Given the description of an element on the screen output the (x, y) to click on. 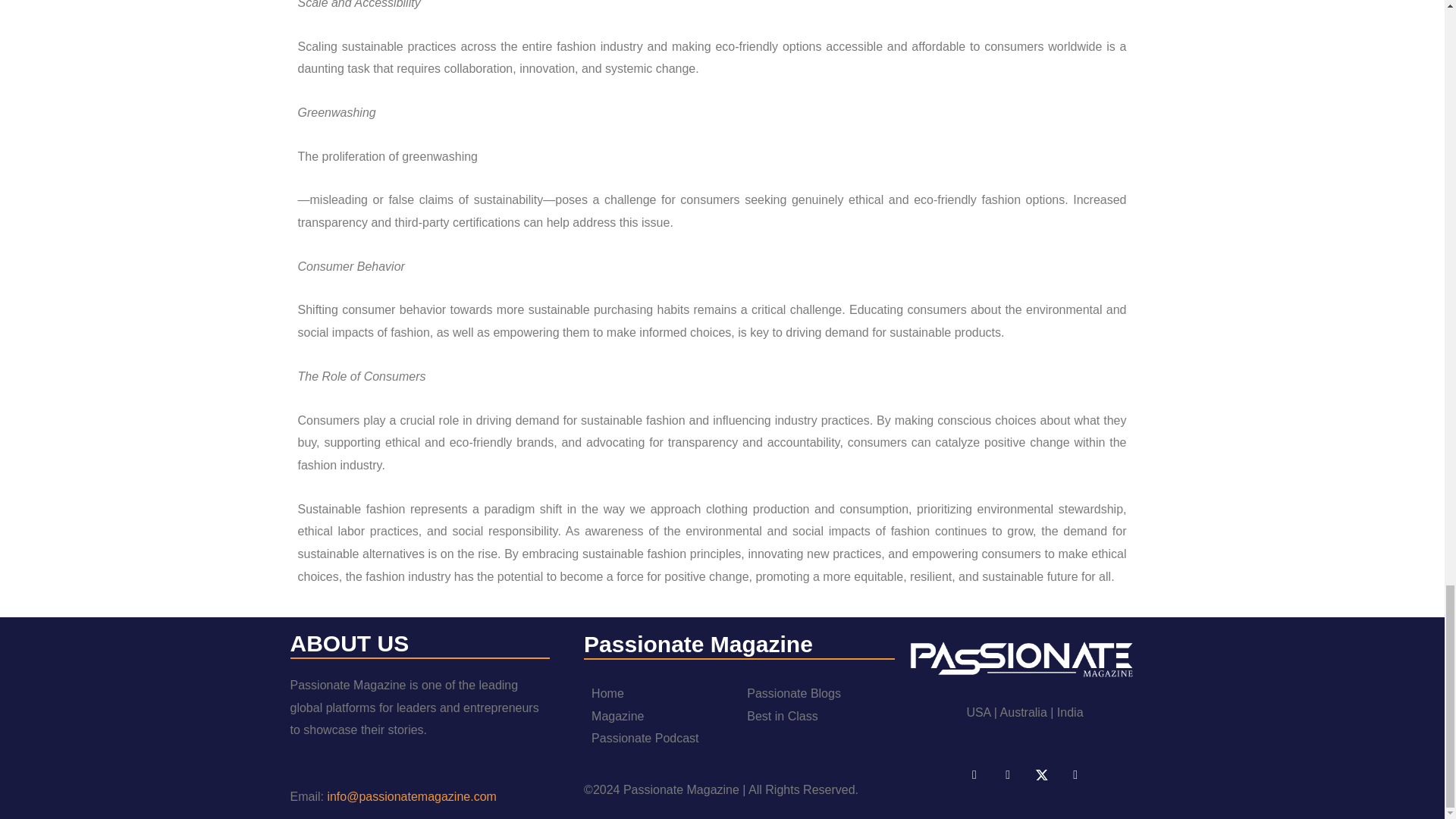
Magazine (617, 716)
Home (607, 693)
Best in Class (781, 716)
Passionate Blogs (793, 693)
Passionate Podcast (644, 738)
